Given the description of an element on the screen output the (x, y) to click on. 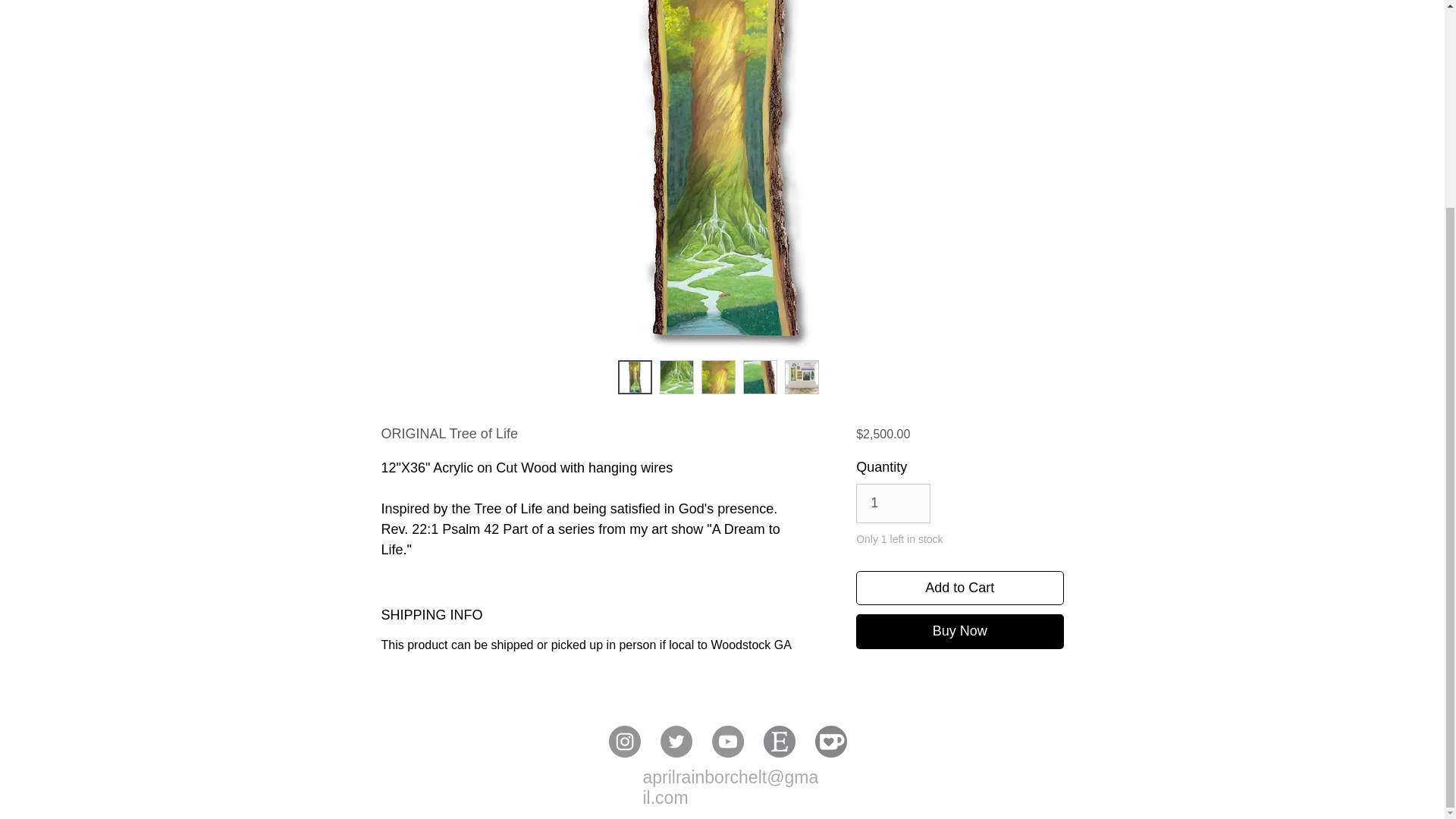
1 (893, 503)
Add to Cart (959, 587)
Buy Now (959, 631)
